Given the description of an element on the screen output the (x, y) to click on. 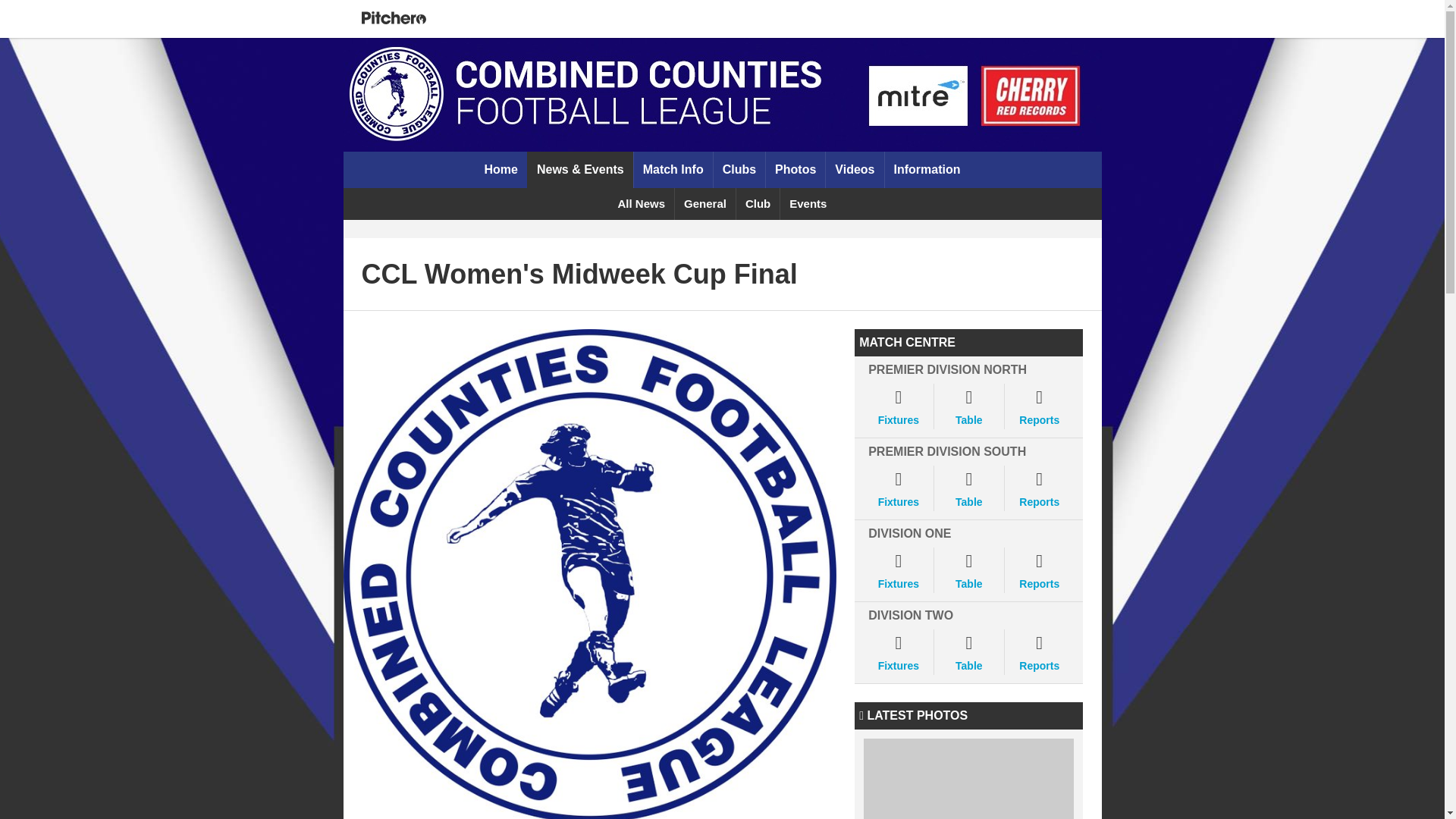
Events (806, 204)
Pitchero (393, 18)
Clubs (739, 169)
Videos (854, 169)
Match Info (673, 169)
General (704, 204)
Club (756, 204)
All News (641, 204)
Information (926, 169)
Photos (795, 169)
Home (499, 169)
